Given the description of an element on the screen output the (x, y) to click on. 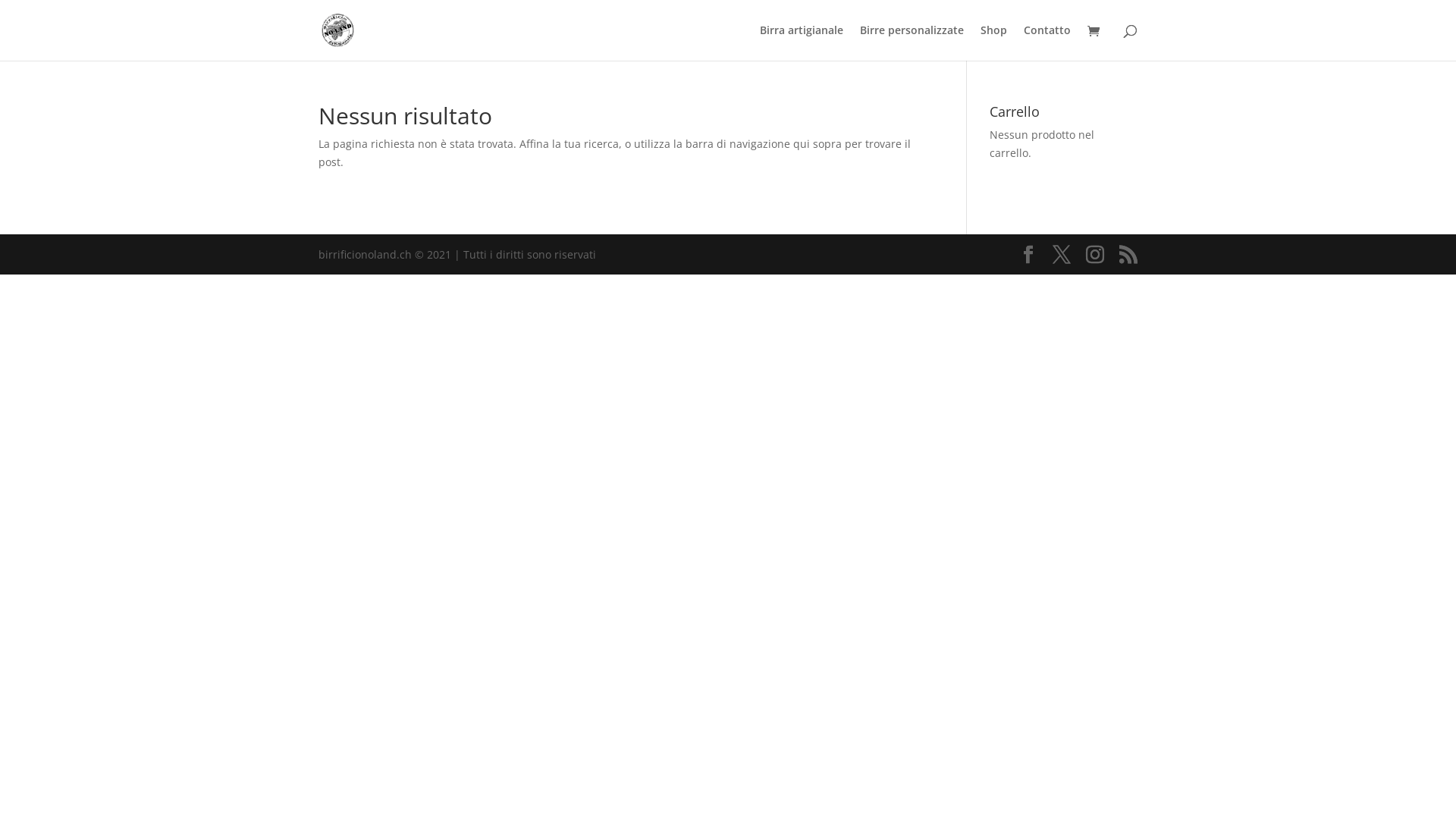
Contatto Element type: text (1046, 42)
Birre personalizzate Element type: text (911, 42)
Birra artigianale Element type: text (801, 42)
Shop Element type: text (993, 42)
